Given the description of an element on the screen output the (x, y) to click on. 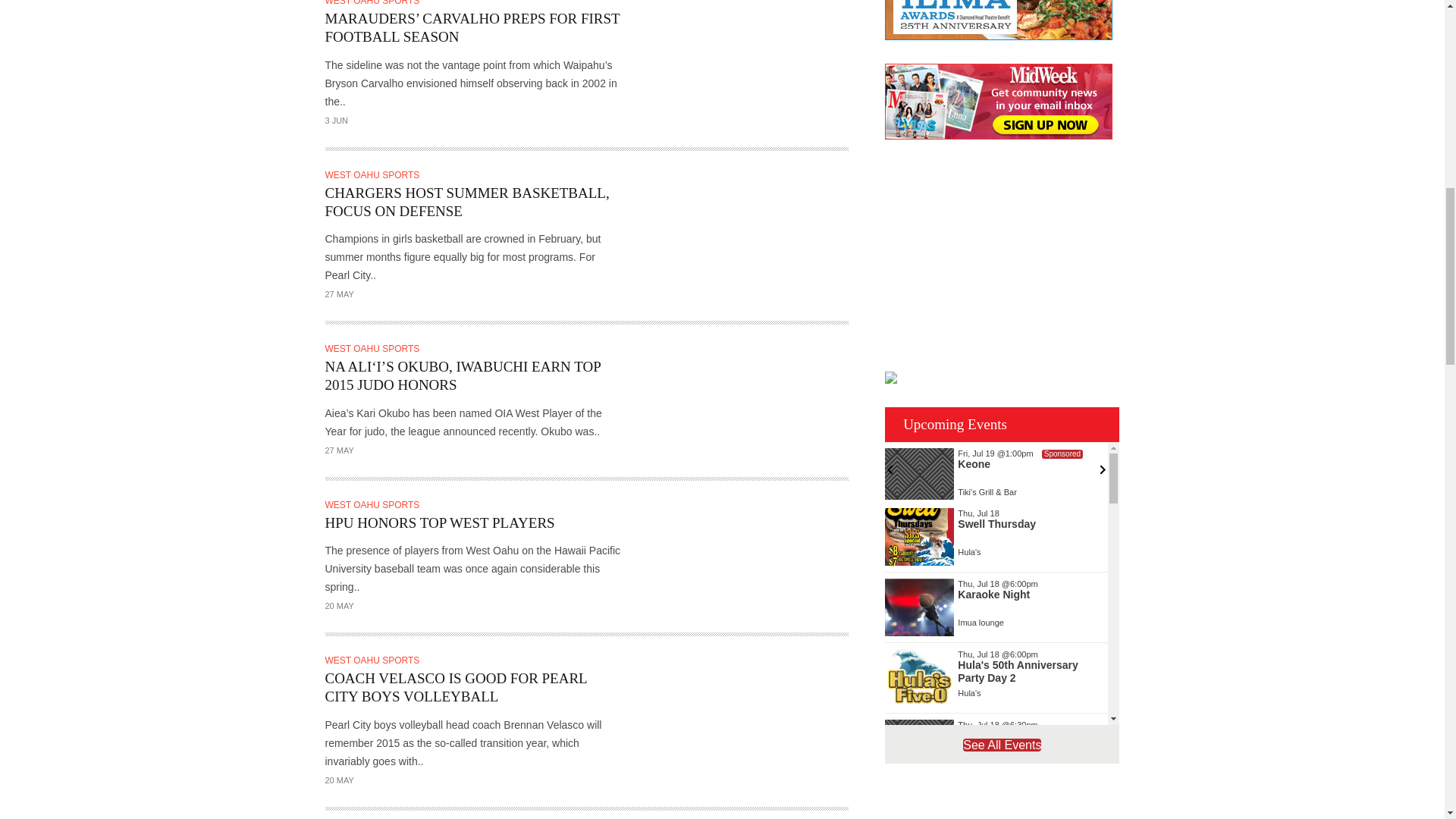
View all posts in West Oahu Sports (373, 174)
View all posts in West Oahu Sports (373, 2)
View all posts in West Oahu Sports (373, 660)
View all posts in West Oahu Sports (373, 504)
View all posts in West Oahu Sports (373, 348)
